Given the description of an element on the screen output the (x, y) to click on. 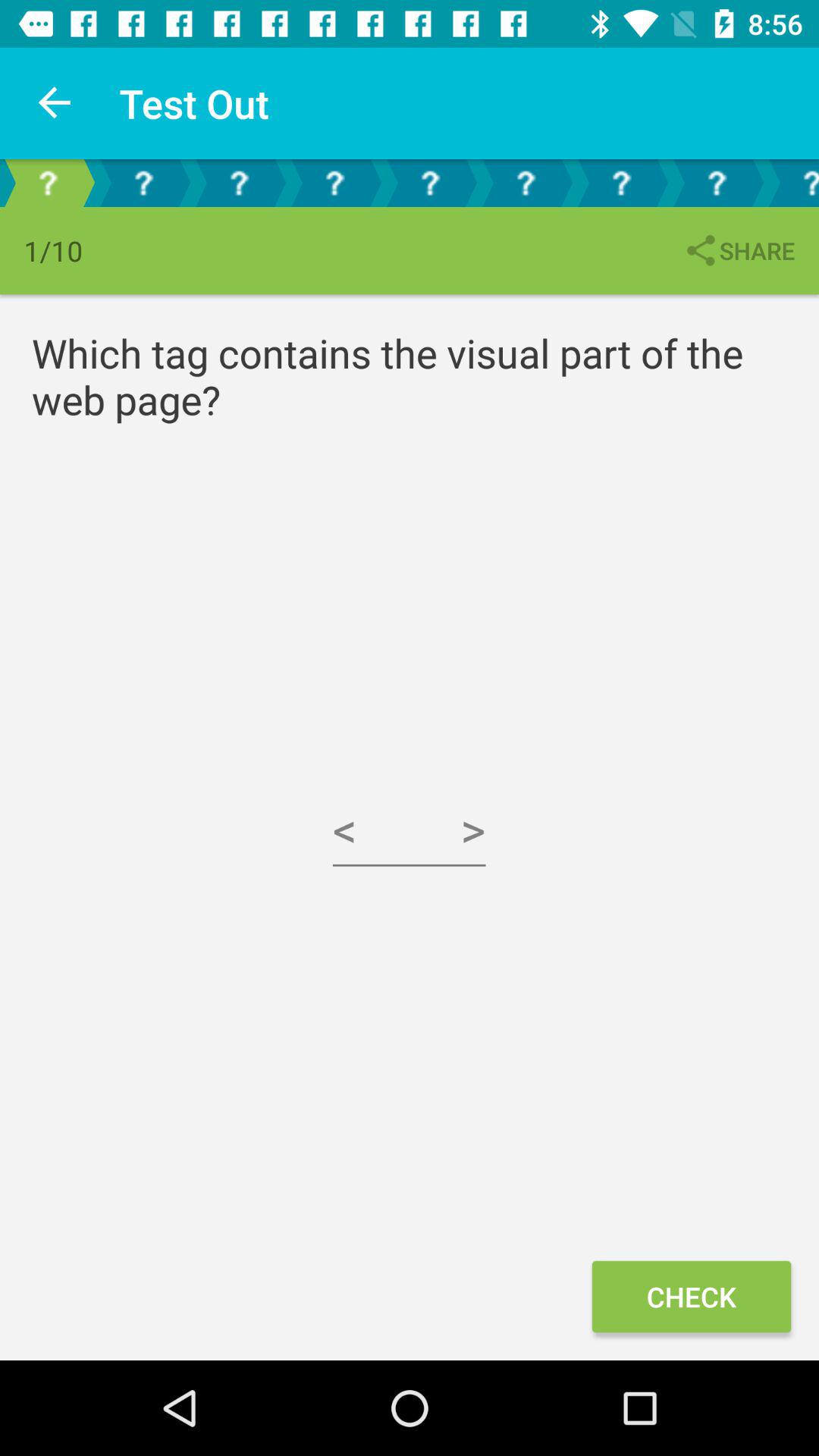
shows question option (716, 183)
